Given the description of an element on the screen output the (x, y) to click on. 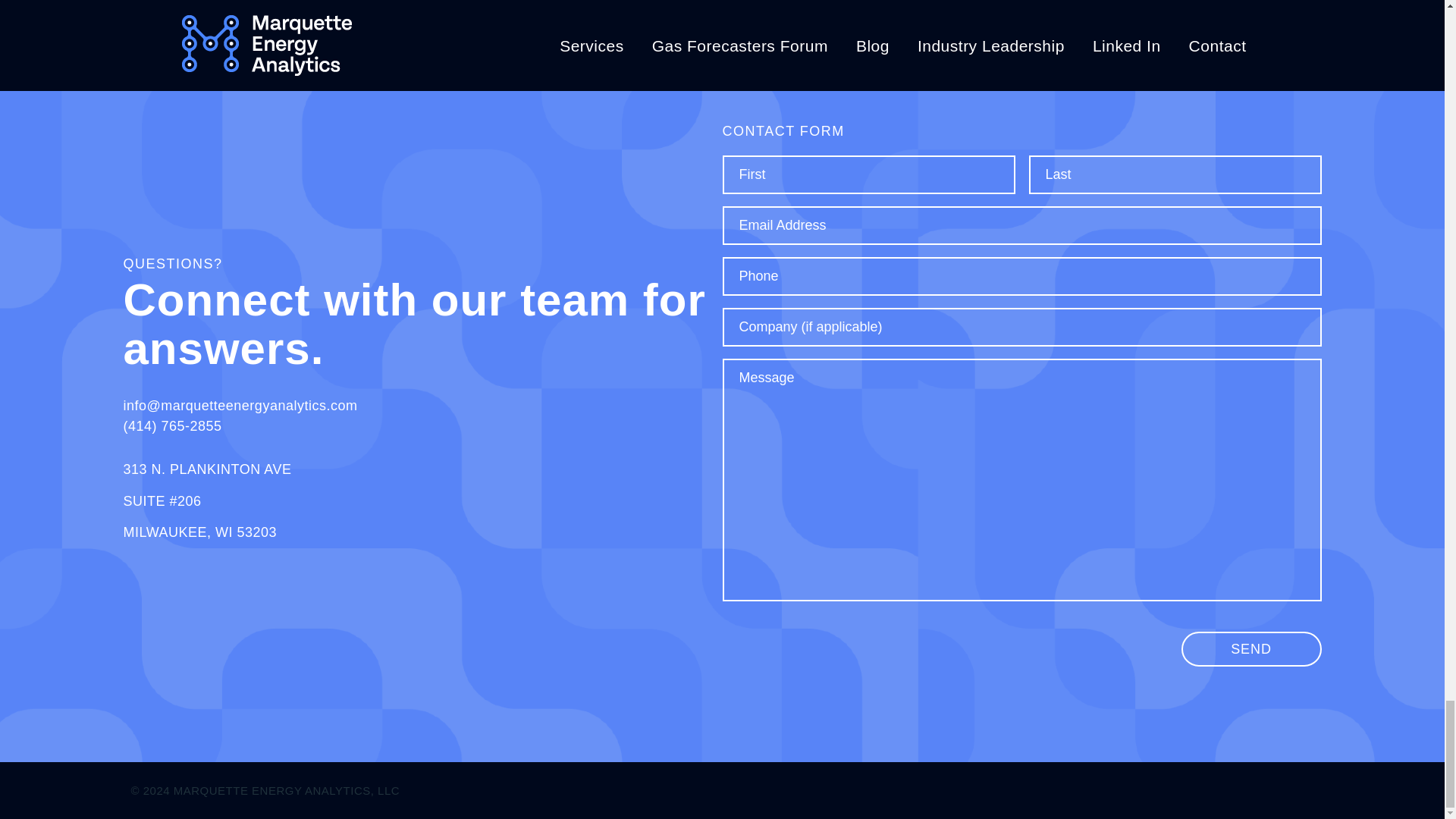
Send (1251, 648)
